Given the description of an element on the screen output the (x, y) to click on. 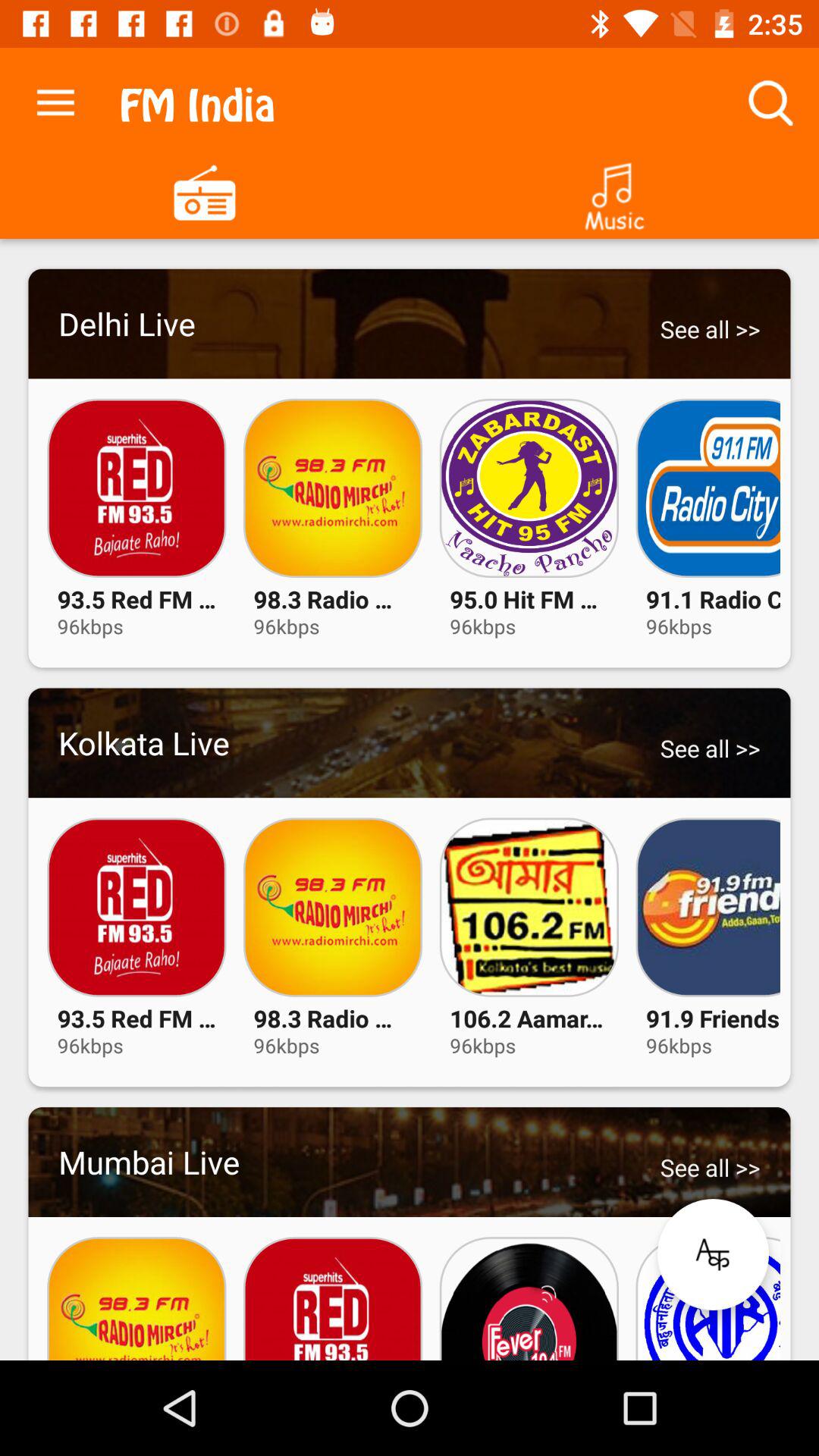
music (614, 190)
